Given the description of an element on the screen output the (x, y) to click on. 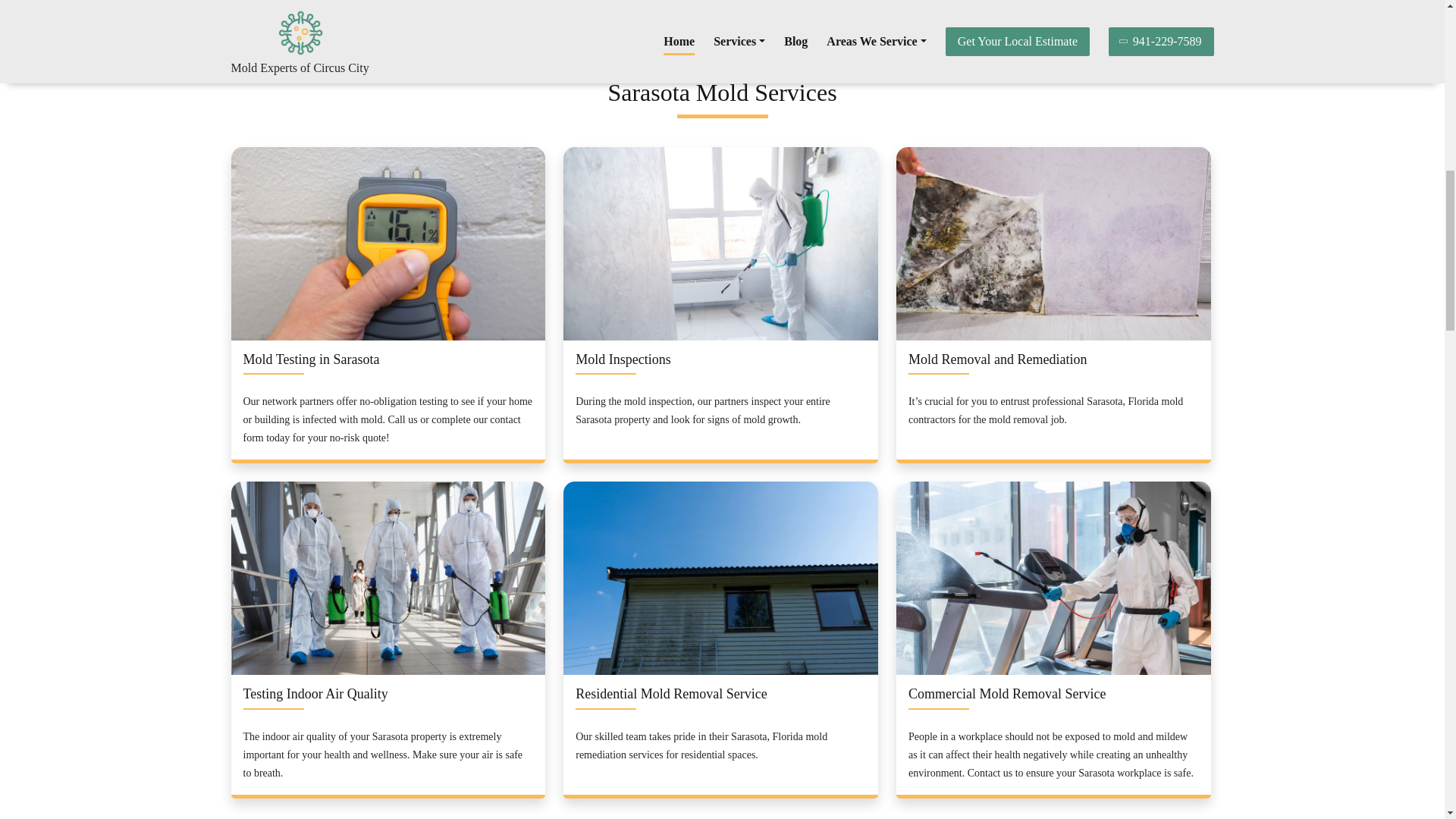
Mold Inspections (623, 359)
Mold Testing in Sarasota (310, 359)
Mold Removal and Remediation (997, 359)
